Given the description of an element on the screen output the (x, y) to click on. 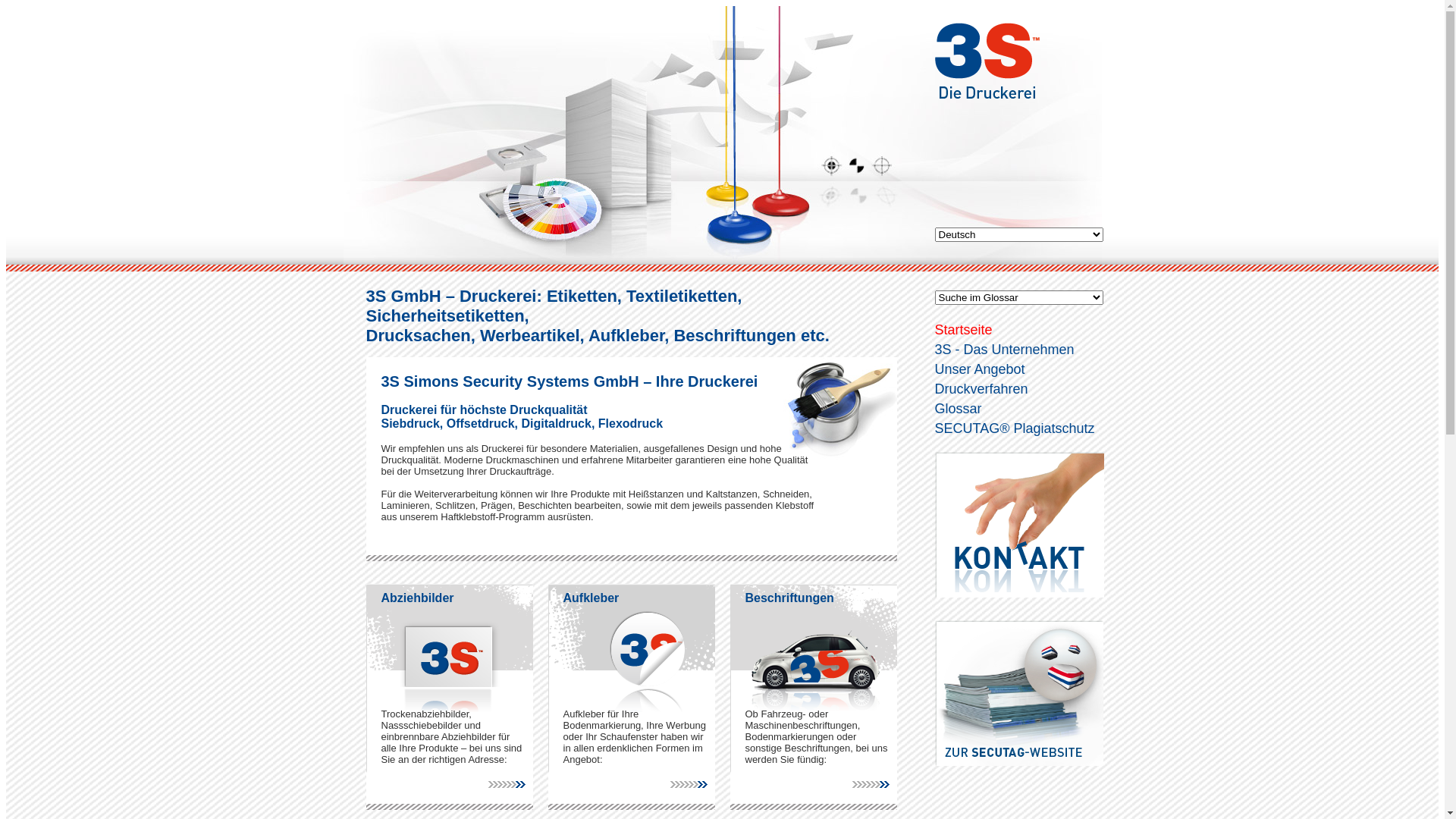
weiter zu den Beschriftungen Element type: hover (874, 784)
3S - Das Unternehmen Element type: text (1003, 349)
weiter zur Druckanfrage Element type: hover (1018, 521)
Startseite Element type: text (962, 329)
Glossar Element type: text (957, 408)
weiter zu den Aufklebern Element type: hover (692, 784)
Unser Angebot Element type: text (979, 368)
Druckverfahren Element type: text (980, 388)
weiter zu den Abziehbildern Element type: hover (510, 784)
